Given the description of an element on the screen output the (x, y) to click on. 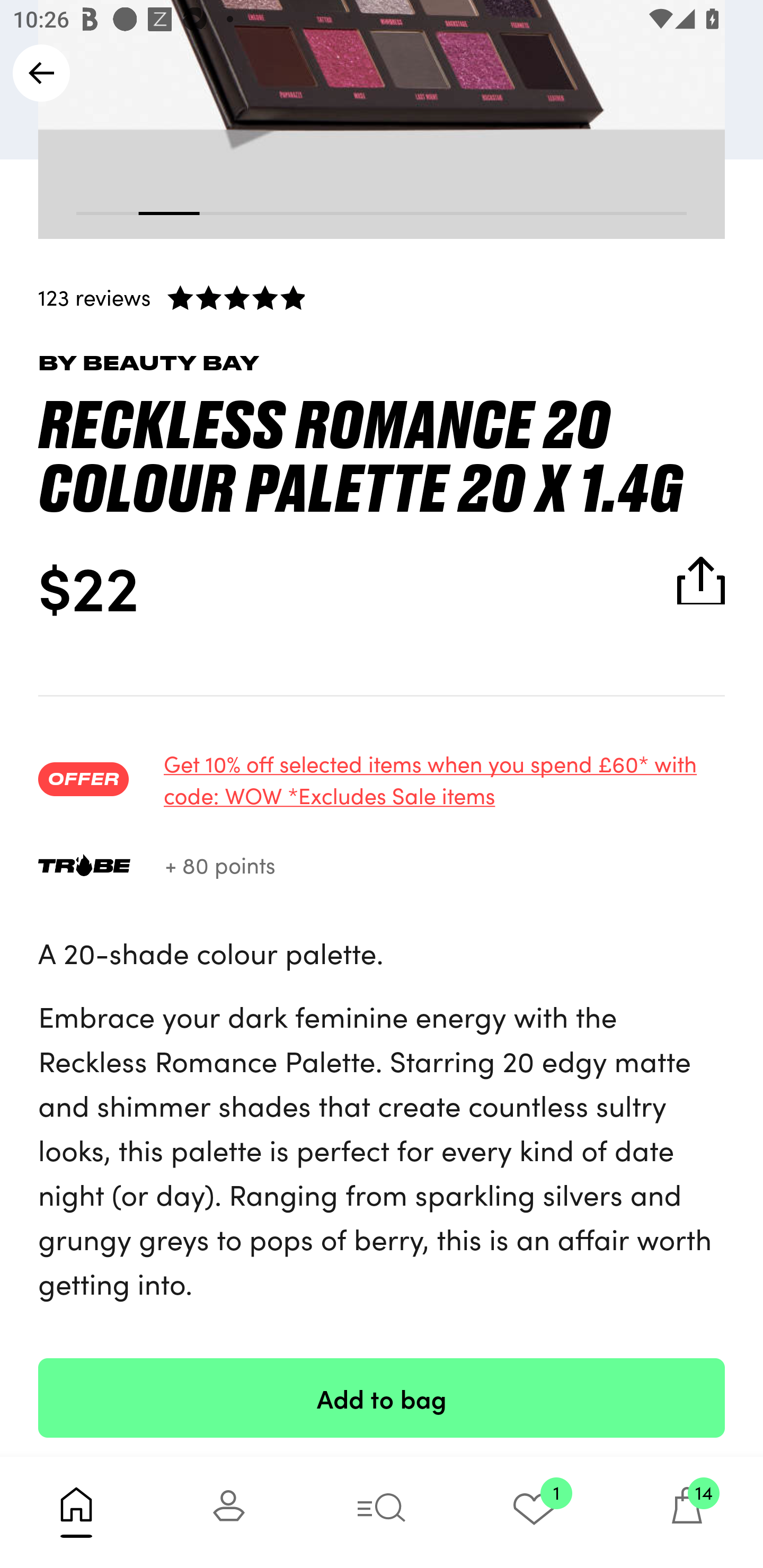
123 reviews (381, 296)
Add to bag (381, 1397)
1 (533, 1512)
14 (686, 1512)
